Given the description of an element on the screen output the (x, y) to click on. 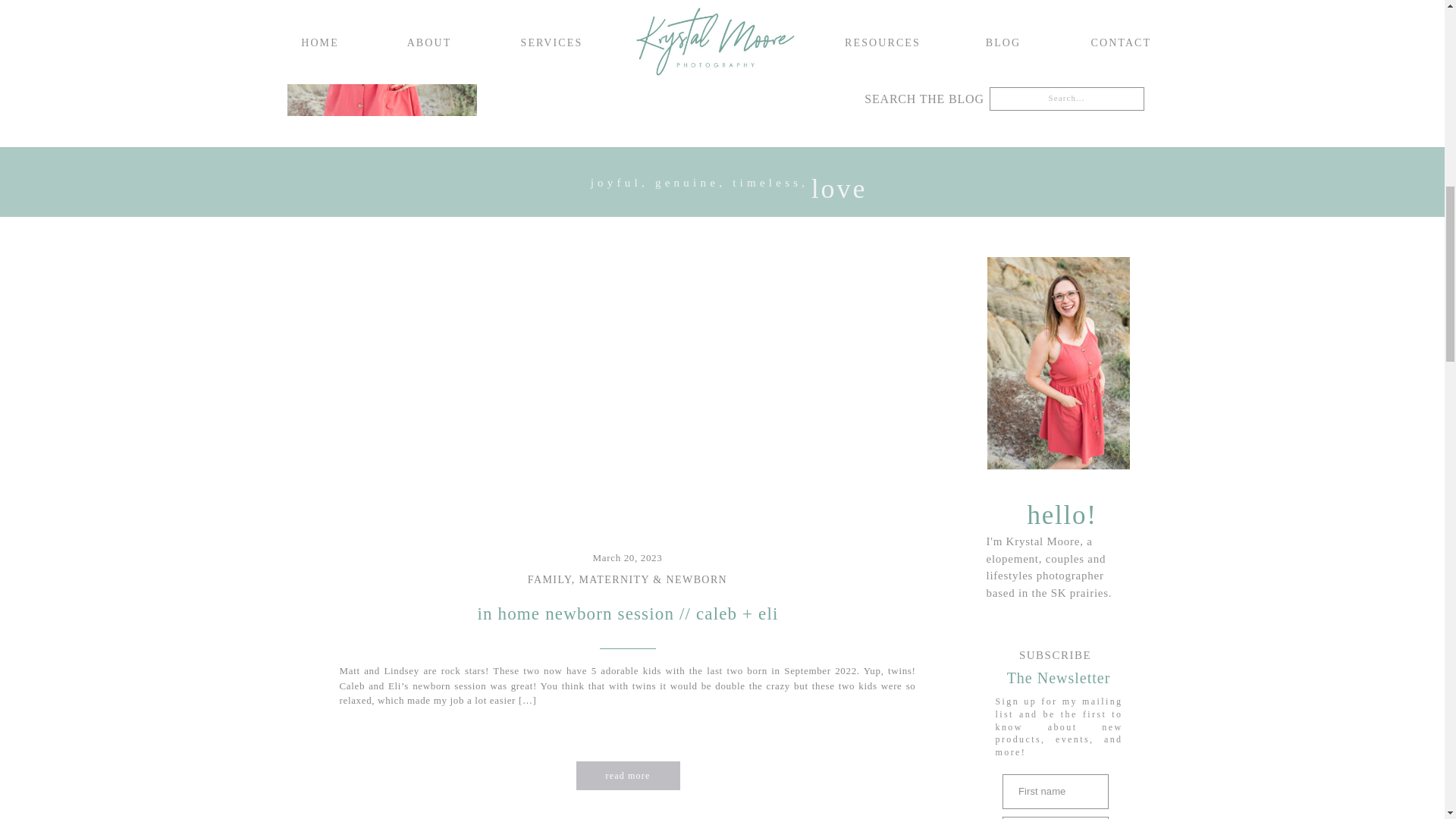
miscellaneous (921, 31)
personal (1012, 31)
family (1030, 5)
styled shoots (1089, 31)
grad (1092, 5)
engagements (949, 5)
